Given the description of an element on the screen output the (x, y) to click on. 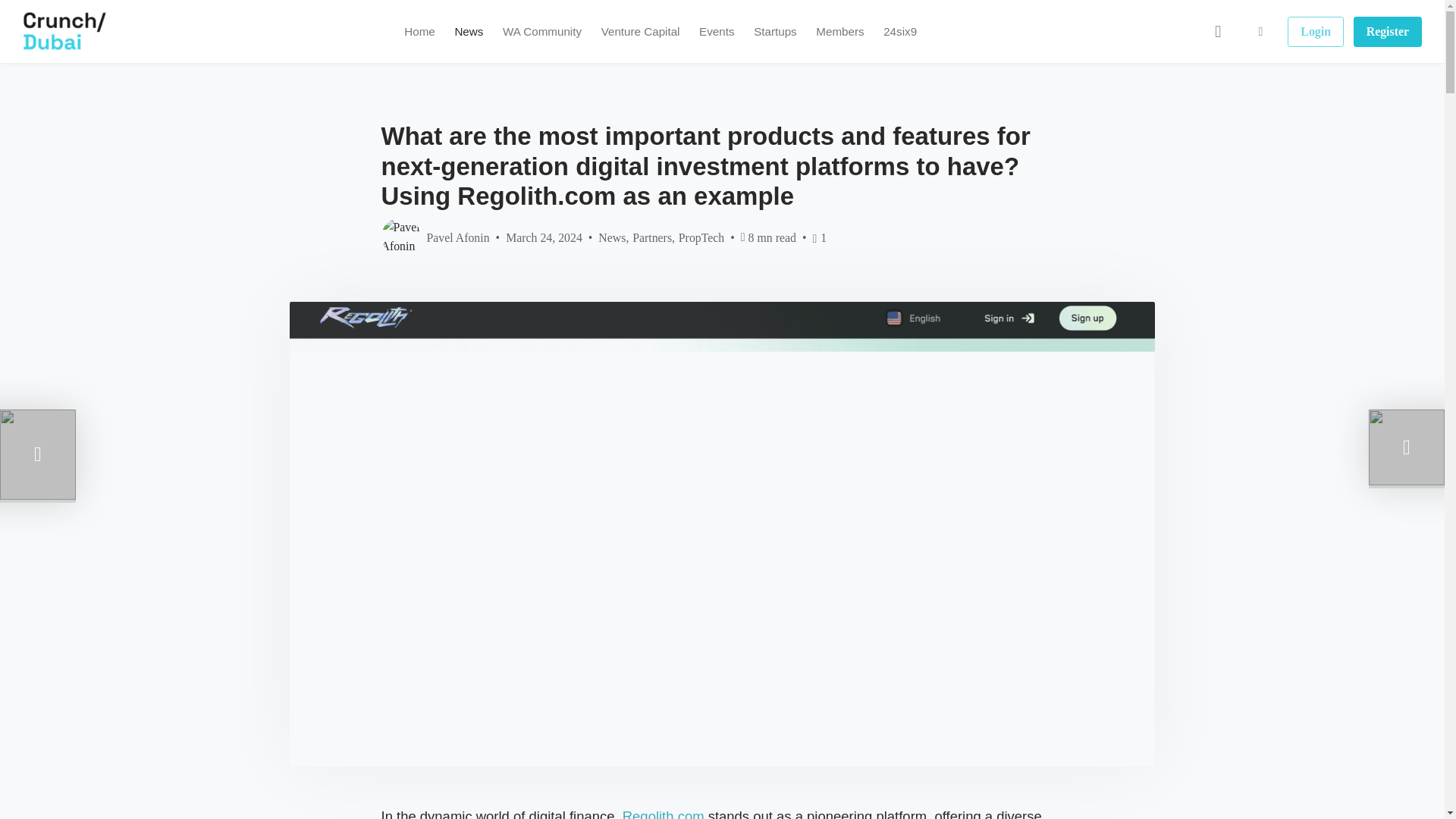
Pavel Afonin (434, 237)
WA Community (542, 31)
Login (1315, 31)
Regolith.com (663, 813)
March 24, 2024 (543, 236)
Register (1388, 31)
PropTech (700, 236)
News (612, 236)
Partners (651, 236)
